Given the description of an element on the screen output the (x, y) to click on. 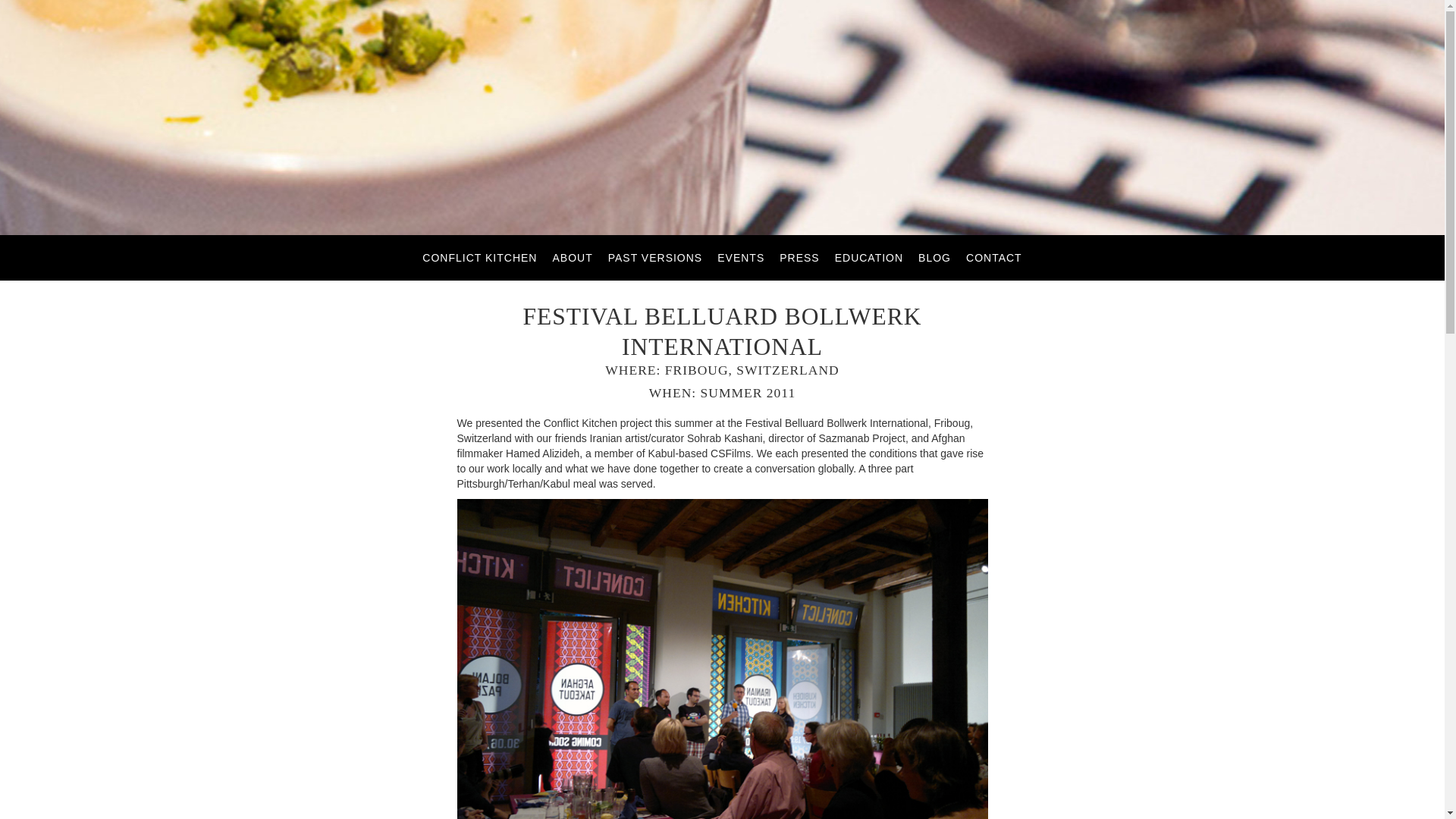
CONTACT (994, 257)
EDUCATION (868, 257)
PRESS (798, 257)
EVENTS (740, 257)
CONFLICT KITCHEN (479, 257)
PAST VERSIONS (655, 257)
ABOUT (571, 257)
BLOG (934, 257)
